Given the description of an element on the screen output the (x, y) to click on. 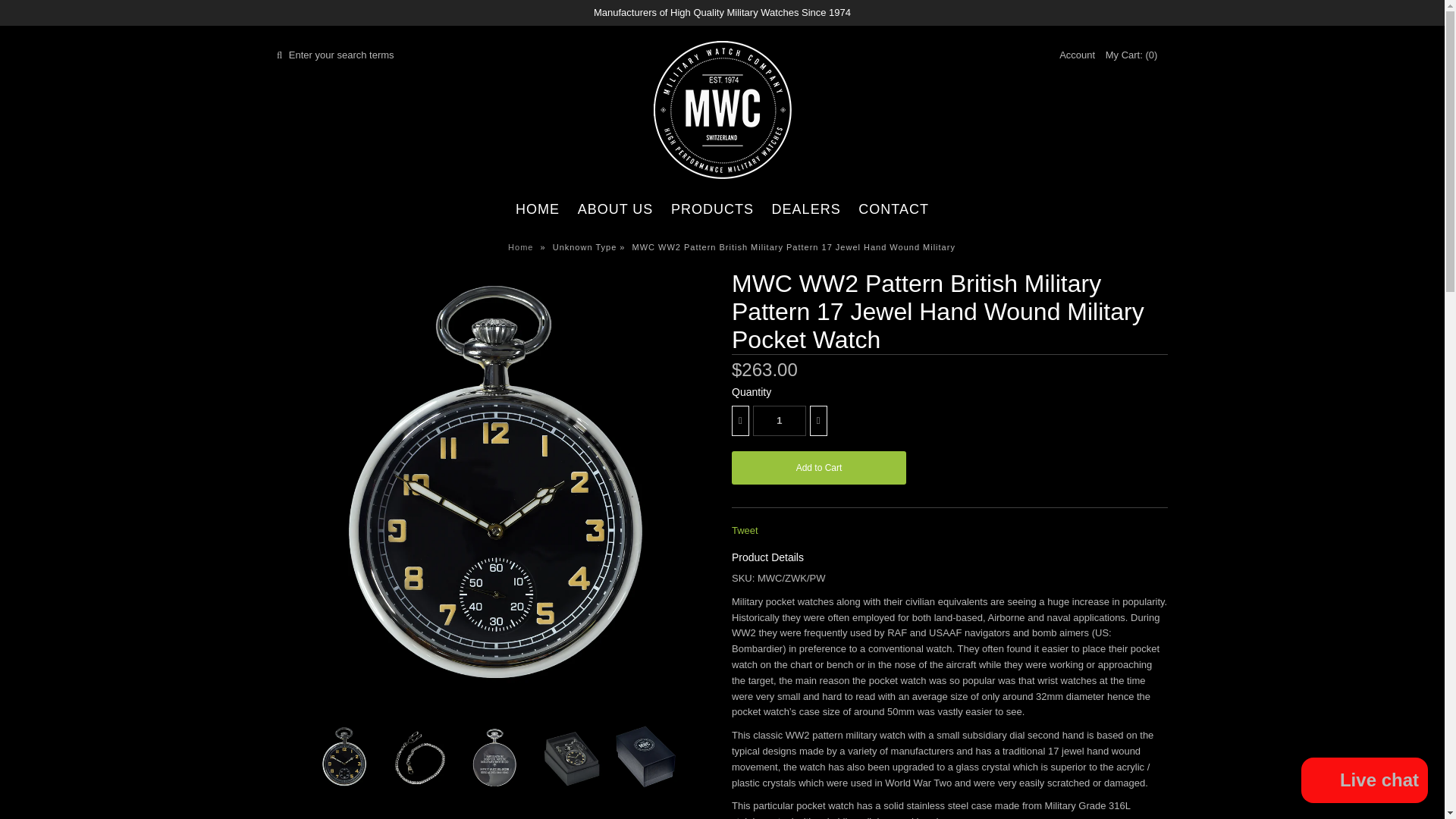
1 (779, 420)
CONTACT (893, 209)
ABOUT US (615, 209)
Home (522, 246)
Home (522, 246)
Tweet (745, 530)
HOME (537, 209)
PRODUCTS (712, 209)
Add to Cart (818, 467)
DEALERS (806, 209)
Account (1076, 54)
Add to Cart (818, 467)
